Given the description of an element on the screen output the (x, y) to click on. 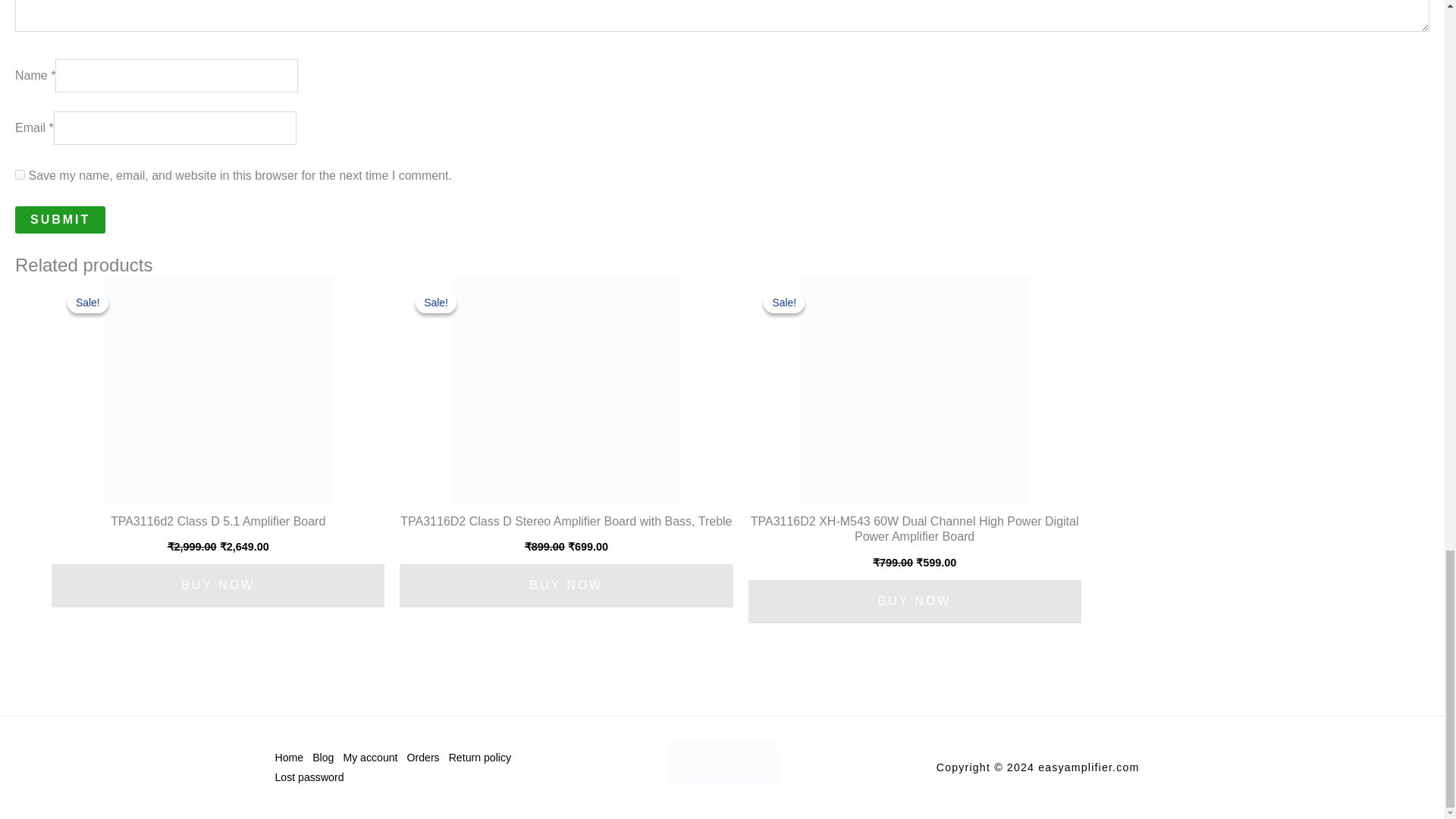
yes (19, 174)
Submit (59, 219)
